Given the description of an element on the screen output the (x, y) to click on. 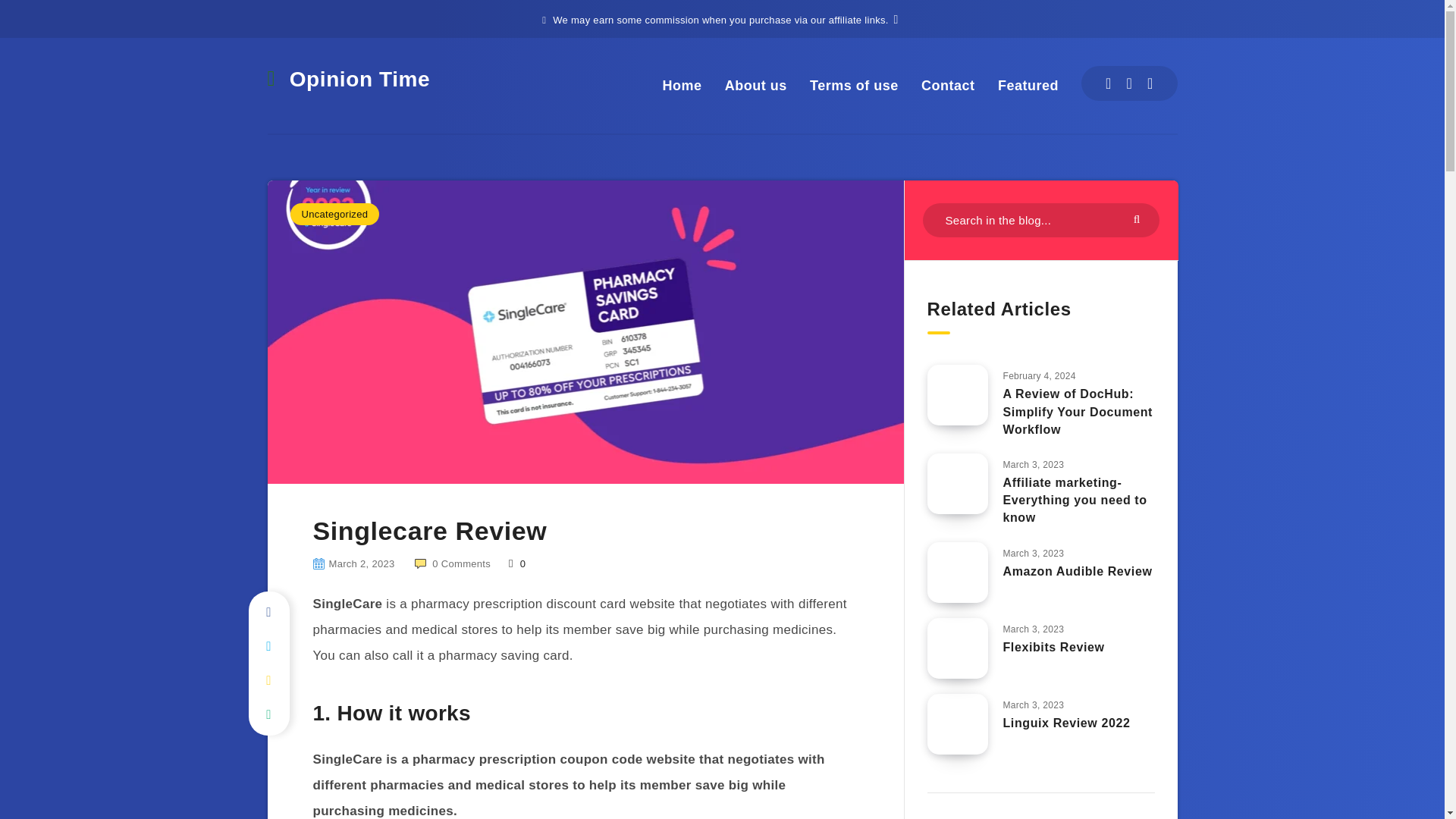
0 Comments (453, 563)
Amazon Audible Review (1077, 573)
Terms of use (853, 85)
Affiliate marketing- Everything you need to know (1075, 501)
Contact (948, 85)
Flexibits Review (1053, 648)
Featured (1027, 85)
Go to comments (453, 563)
Opinion Time (347, 79)
About us (756, 85)
